Given the description of an element on the screen output the (x, y) to click on. 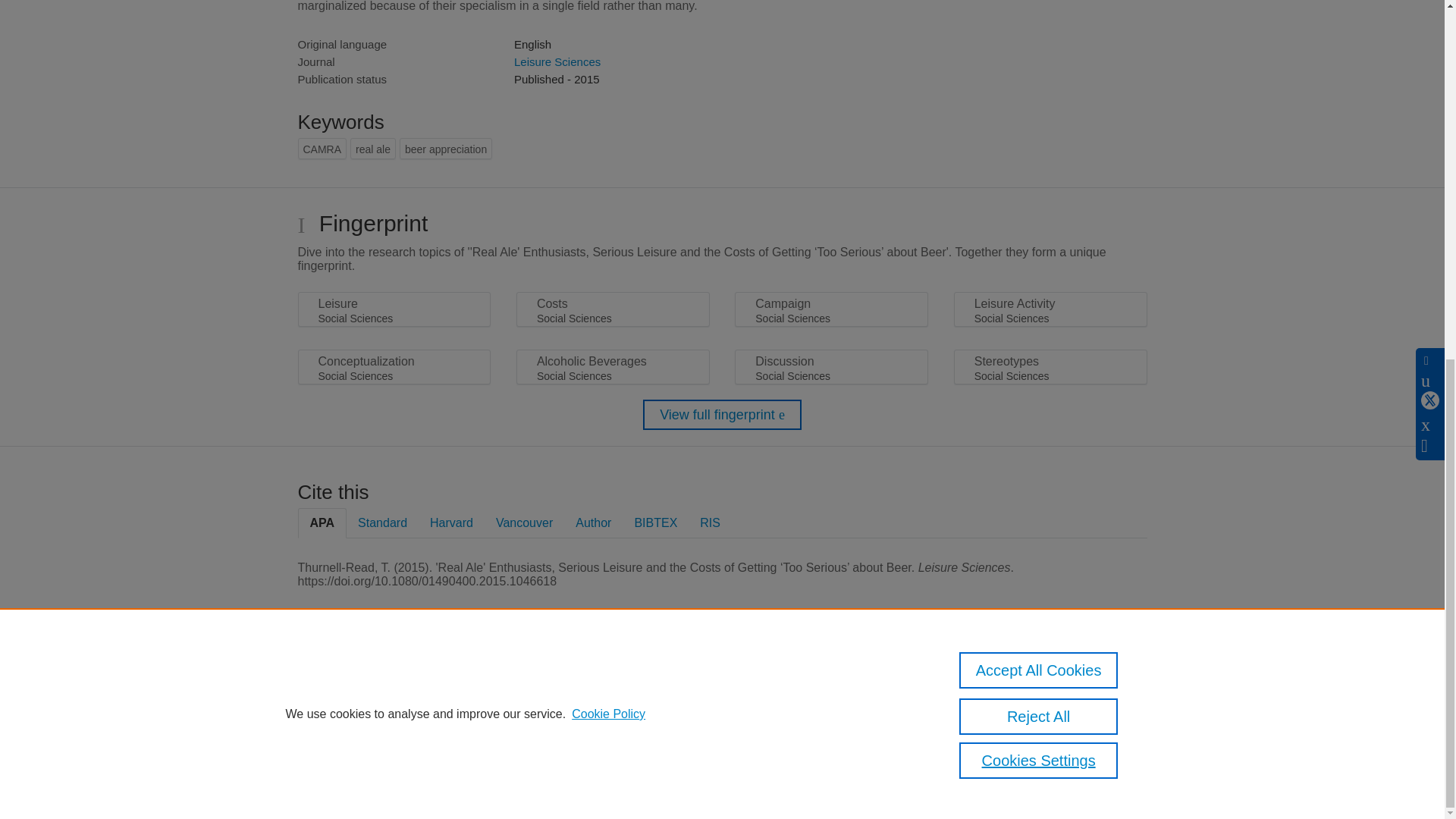
Pure (362, 686)
Leisure Sciences (556, 61)
View full fingerprint (722, 414)
